Given the description of an element on the screen output the (x, y) to click on. 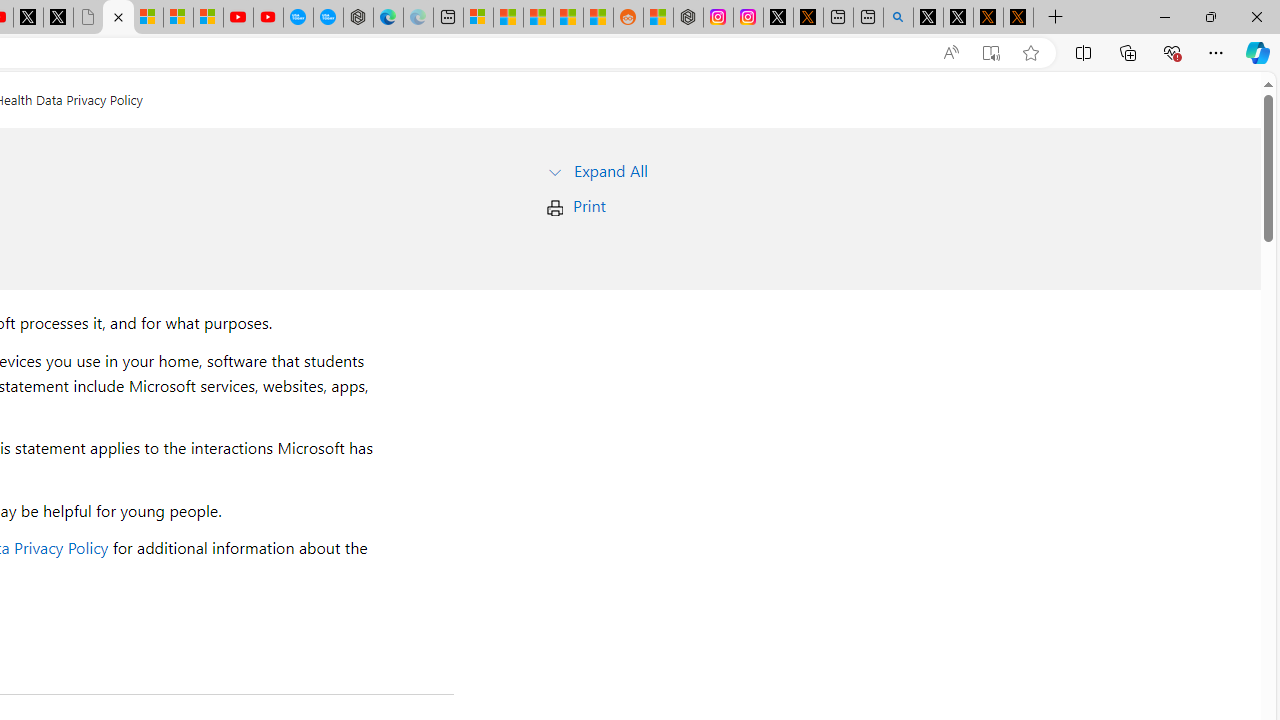
Expand All (610, 170)
GitHub (@github) / X (957, 17)
Untitled (88, 17)
